Given the description of an element on the screen output the (x, y) to click on. 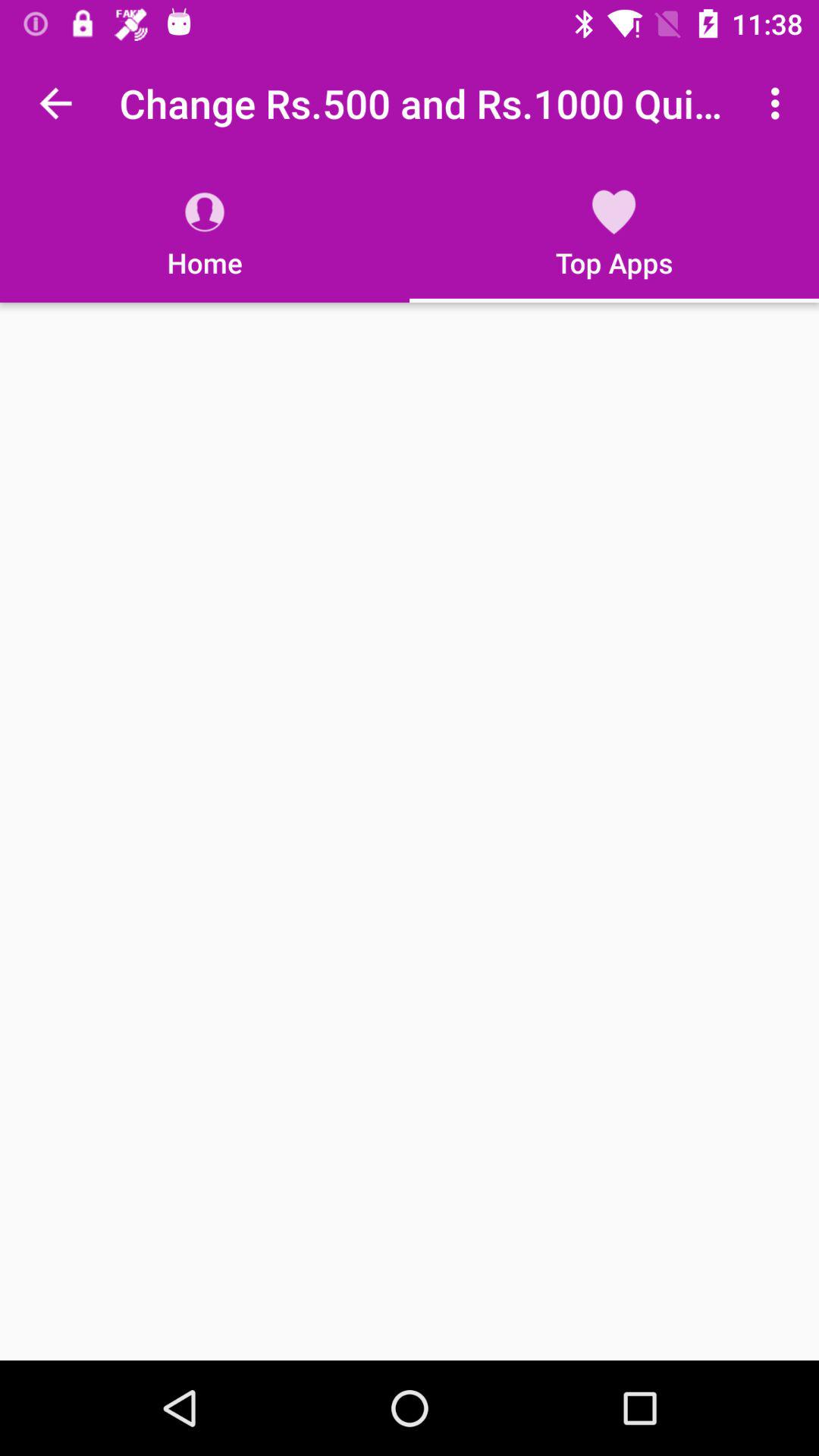
launch the item above home item (55, 103)
